Given the description of an element on the screen output the (x, y) to click on. 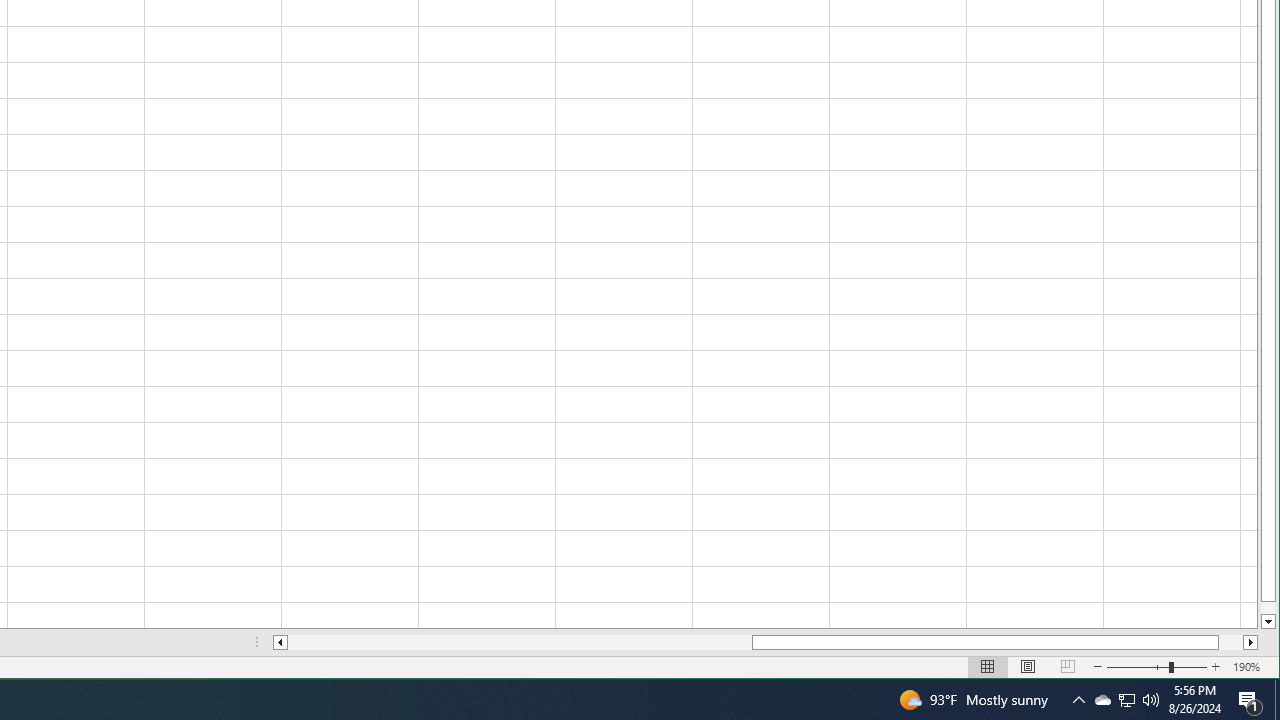
Action Center, 1 new notification (1250, 699)
Q2790: 100% (1126, 699)
User Promoted Notification Area (1102, 699)
